Given the description of an element on the screen output the (x, y) to click on. 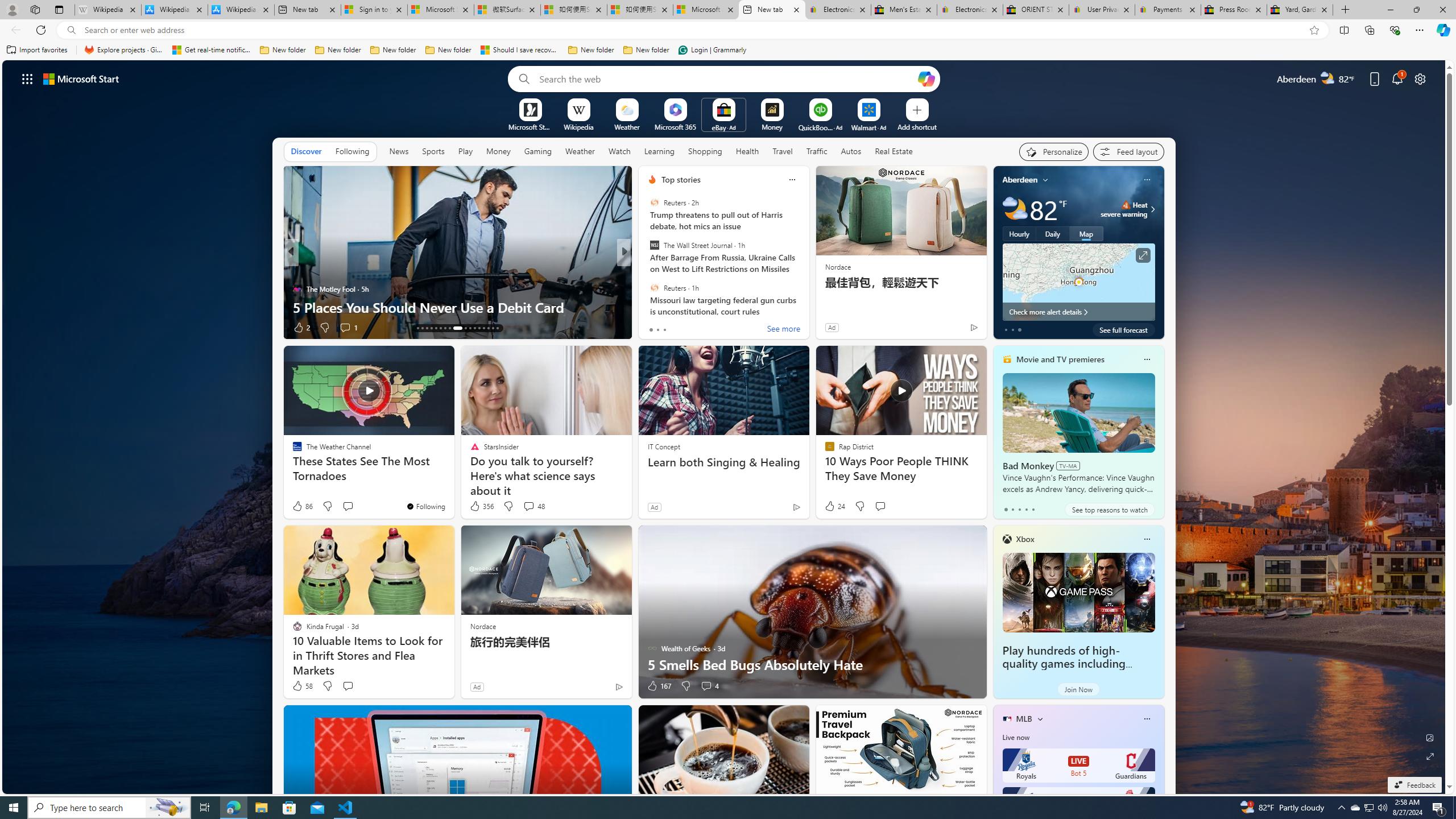
See top reasons to watch (1109, 509)
tab-3 (1025, 509)
AutomationID: tab-18 (440, 328)
Money (497, 151)
Map (1085, 233)
Class: weather-arrow-glyph (1152, 208)
Expand background (1430, 756)
Heat - Severe (1126, 204)
Real Estate (893, 151)
Ad Choice (619, 686)
This is me before starting my (807, 307)
